Given the description of an element on the screen output the (x, y) to click on. 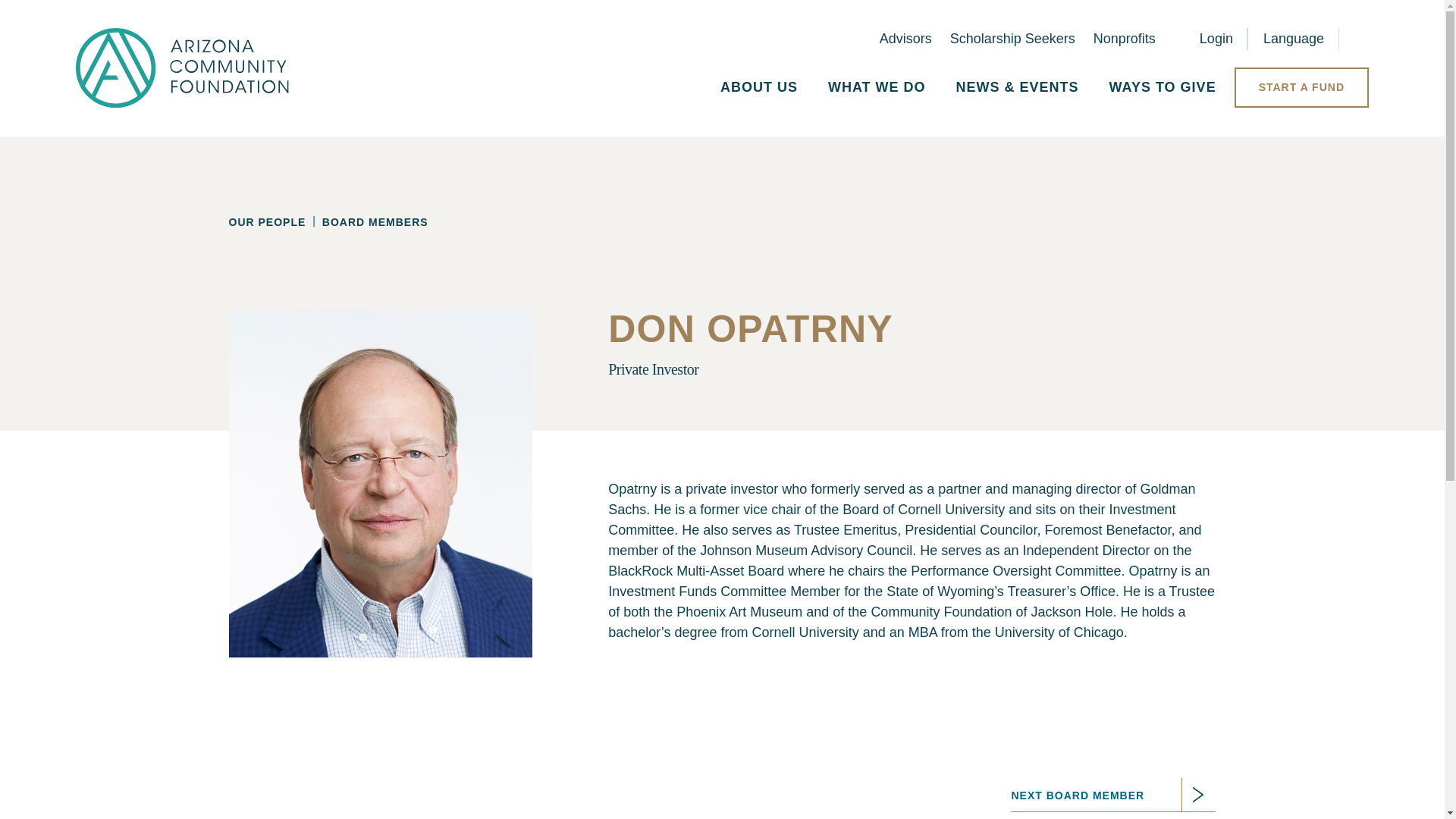
Language (1293, 38)
WAYS TO GIVE (1162, 87)
Login (1203, 38)
Advisors (905, 38)
Nonprofits (1124, 38)
START A FUND (1301, 87)
WHAT WE DO (877, 87)
Scholarship Seekers (1012, 38)
